Given the description of an element on the screen output the (x, y) to click on. 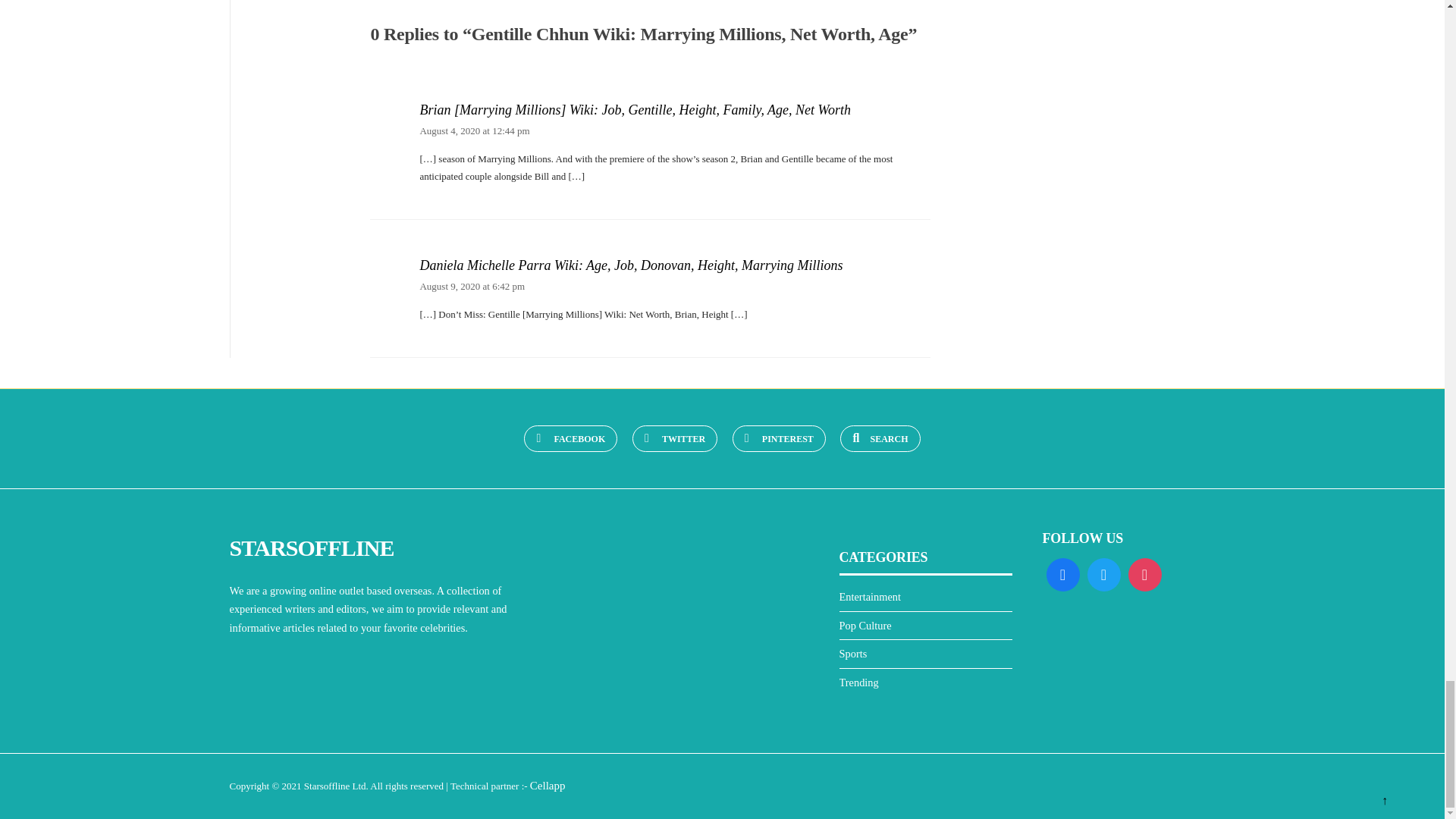
FACEBOOK (570, 438)
August 4, 2020 at 12:44 pm (474, 130)
August 9, 2020 at 6:42 pm (471, 285)
Pinterest (778, 438)
